Given the description of an element on the screen output the (x, y) to click on. 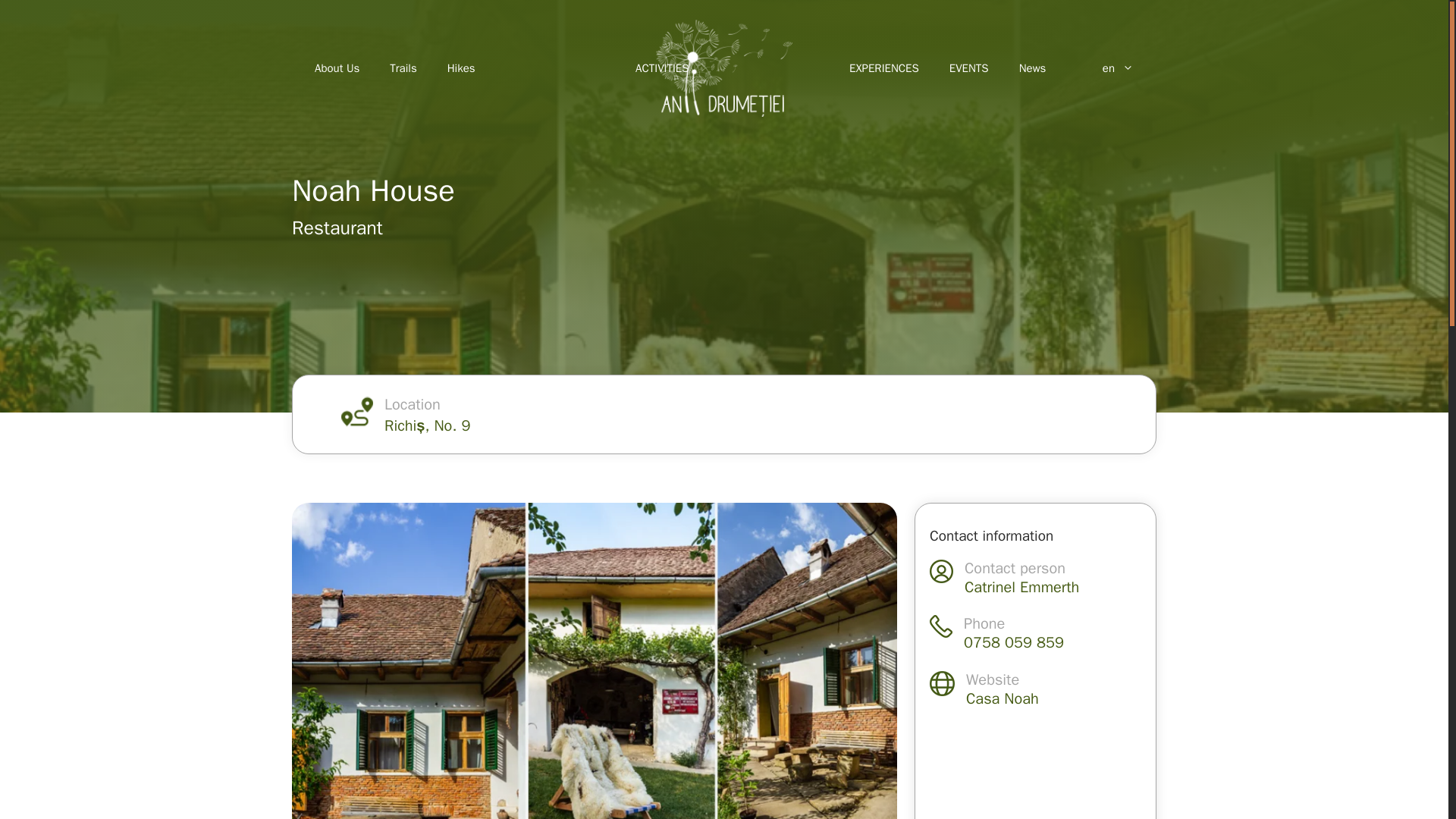
0758 059 859 (1013, 642)
About Us (336, 67)
EXPERIENCES (884, 67)
en (1104, 67)
EVENTS (969, 67)
Trails (402, 67)
Casa Noah (1002, 698)
ACTIVITIES (661, 67)
News (1032, 67)
Hikes (461, 67)
